Given the description of an element on the screen output the (x, y) to click on. 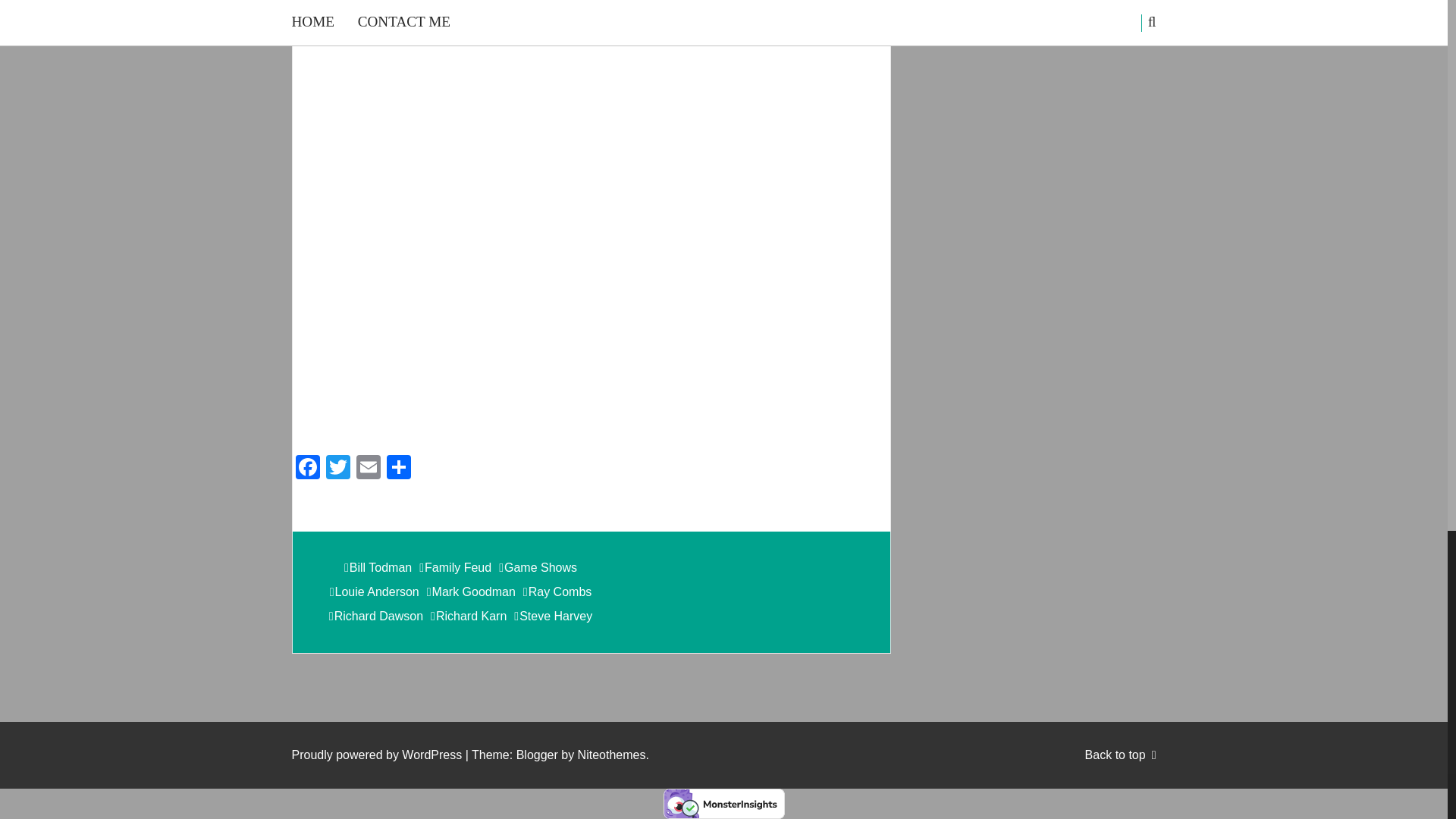
Family Feud (454, 567)
Facebook (307, 469)
Richard Karn (468, 616)
Back to top (1120, 754)
WordPress (431, 754)
Facebook (307, 469)
Richard Dawson (375, 616)
Ray Combs (557, 591)
Email (368, 469)
Louie Anderson (374, 591)
